Given the description of an element on the screen output the (x, y) to click on. 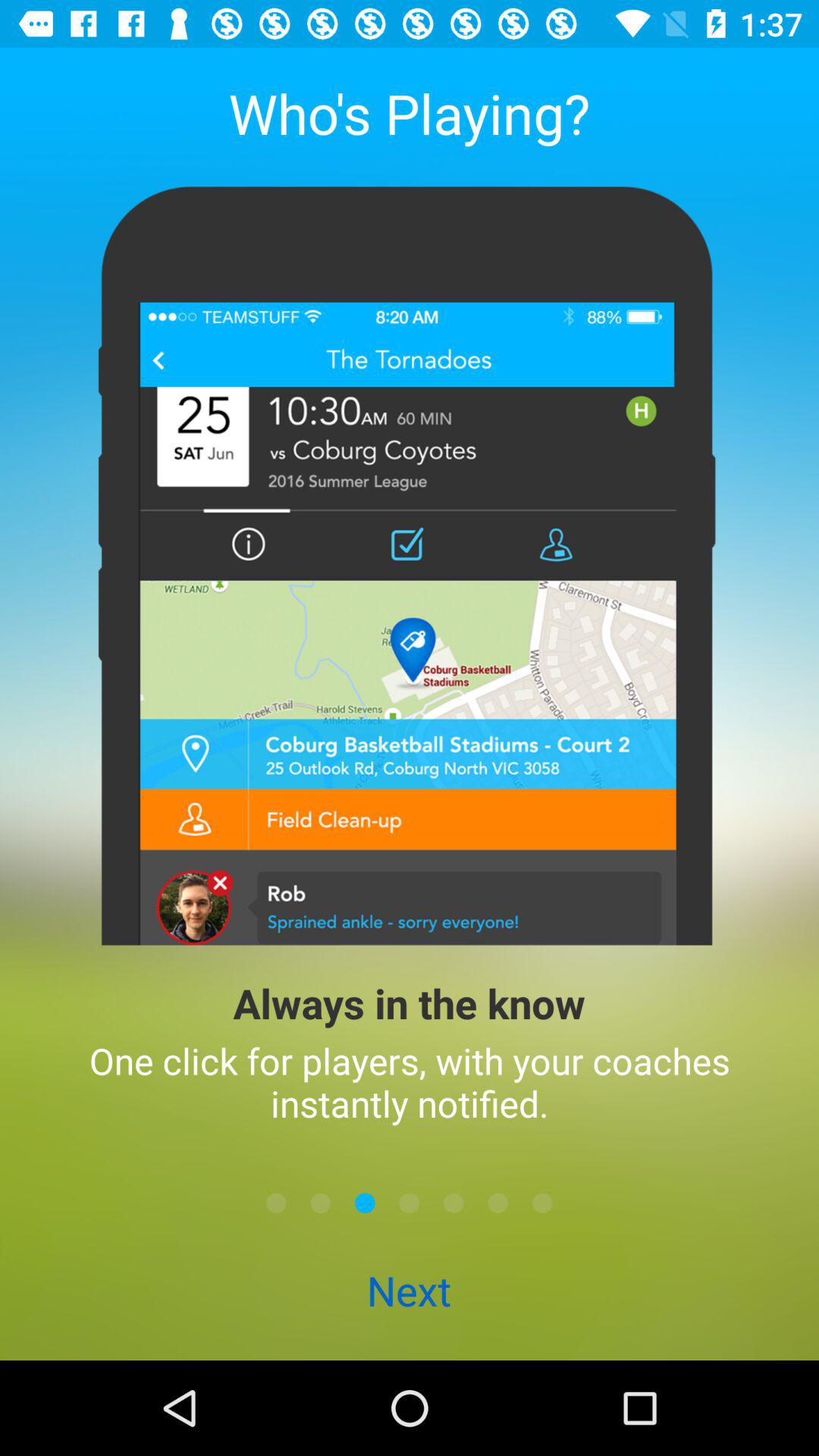
tap icon above next icon (498, 1203)
